Given the description of an element on the screen output the (x, y) to click on. 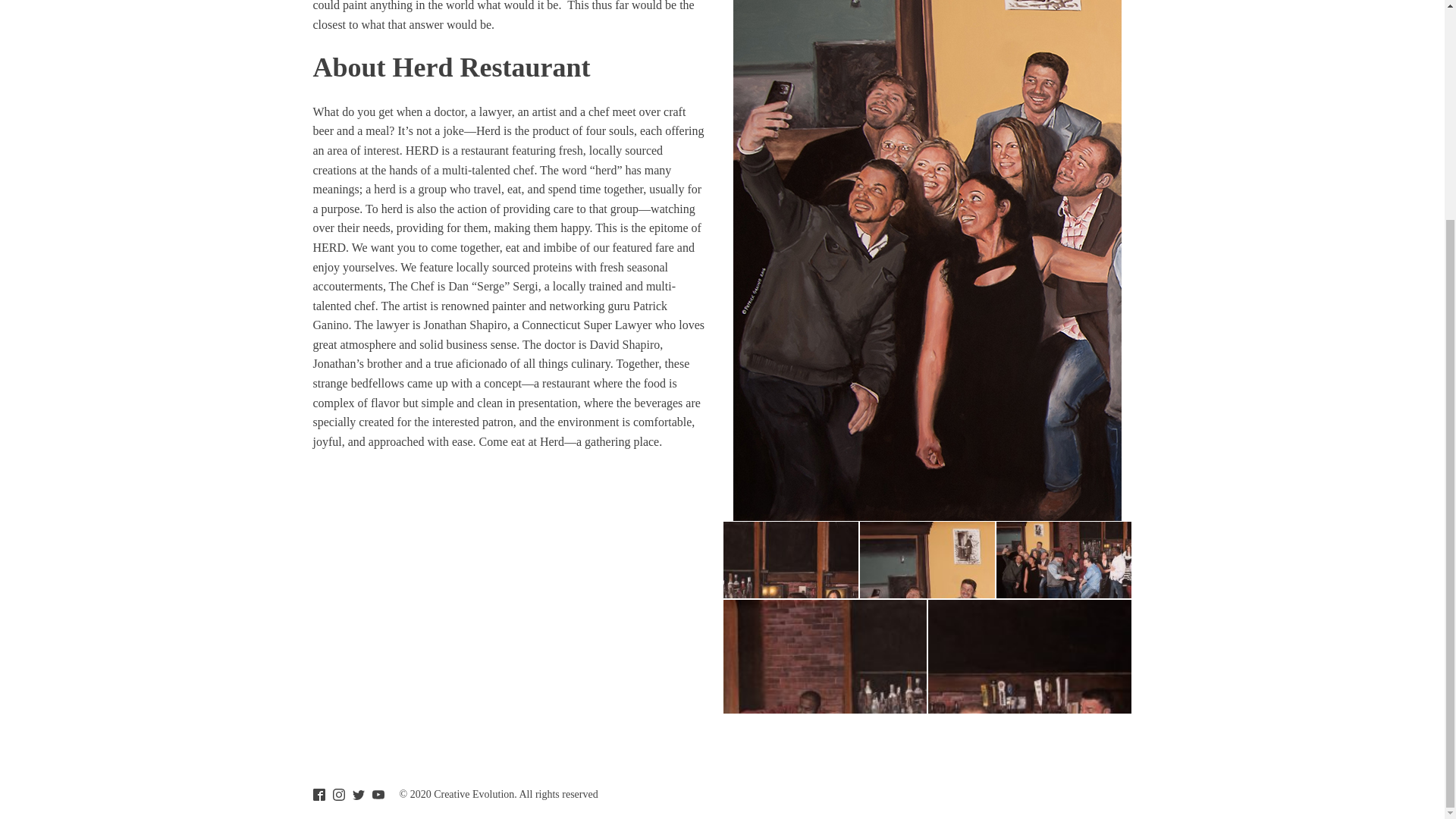
David Shapiro (624, 344)
Jonathan Shapiro (464, 324)
Patrick Ganino (489, 315)
